Given the description of an element on the screen output the (x, y) to click on. 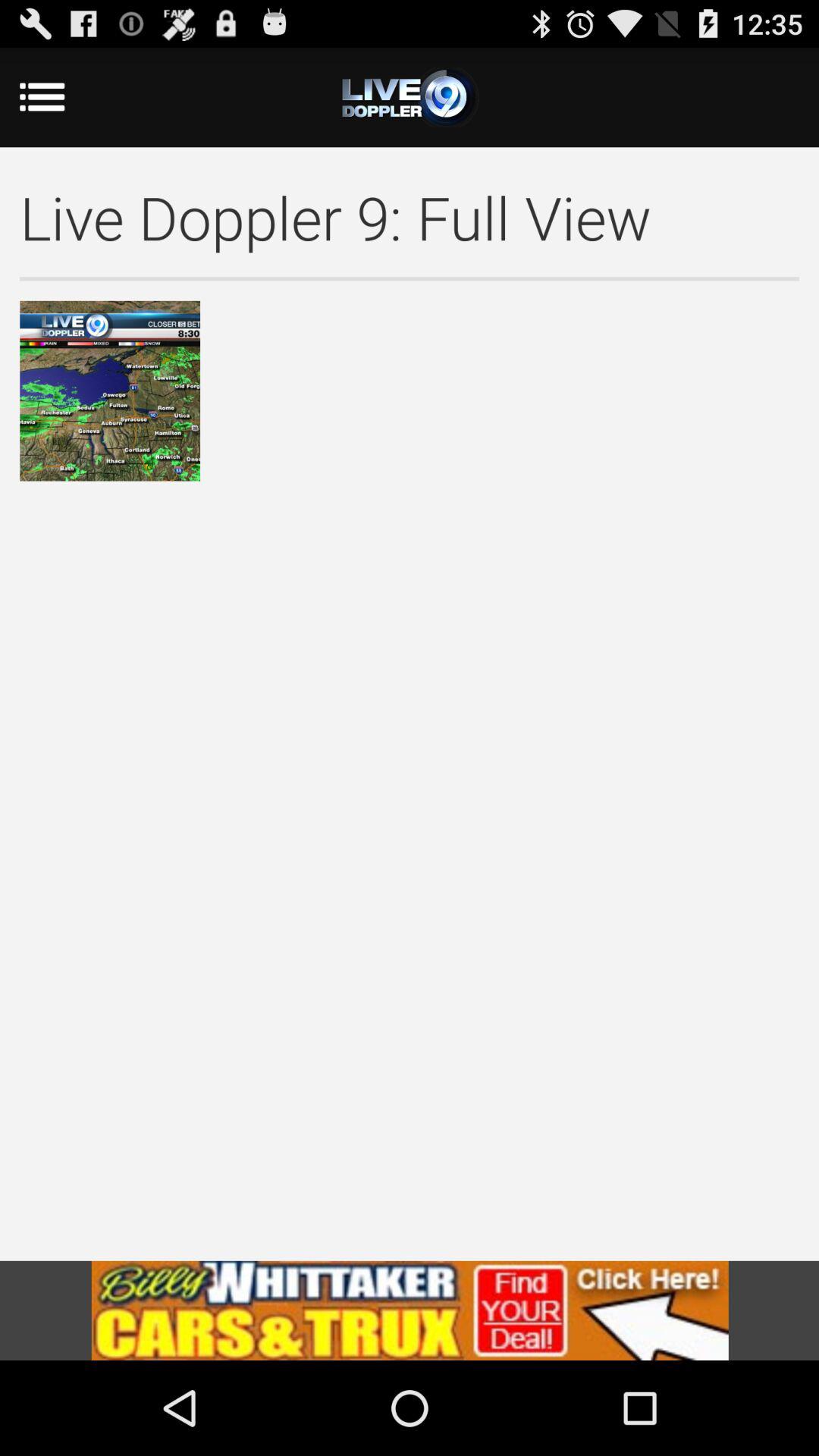
title bar settings (409, 97)
